Given the description of an element on the screen output the (x, y) to click on. 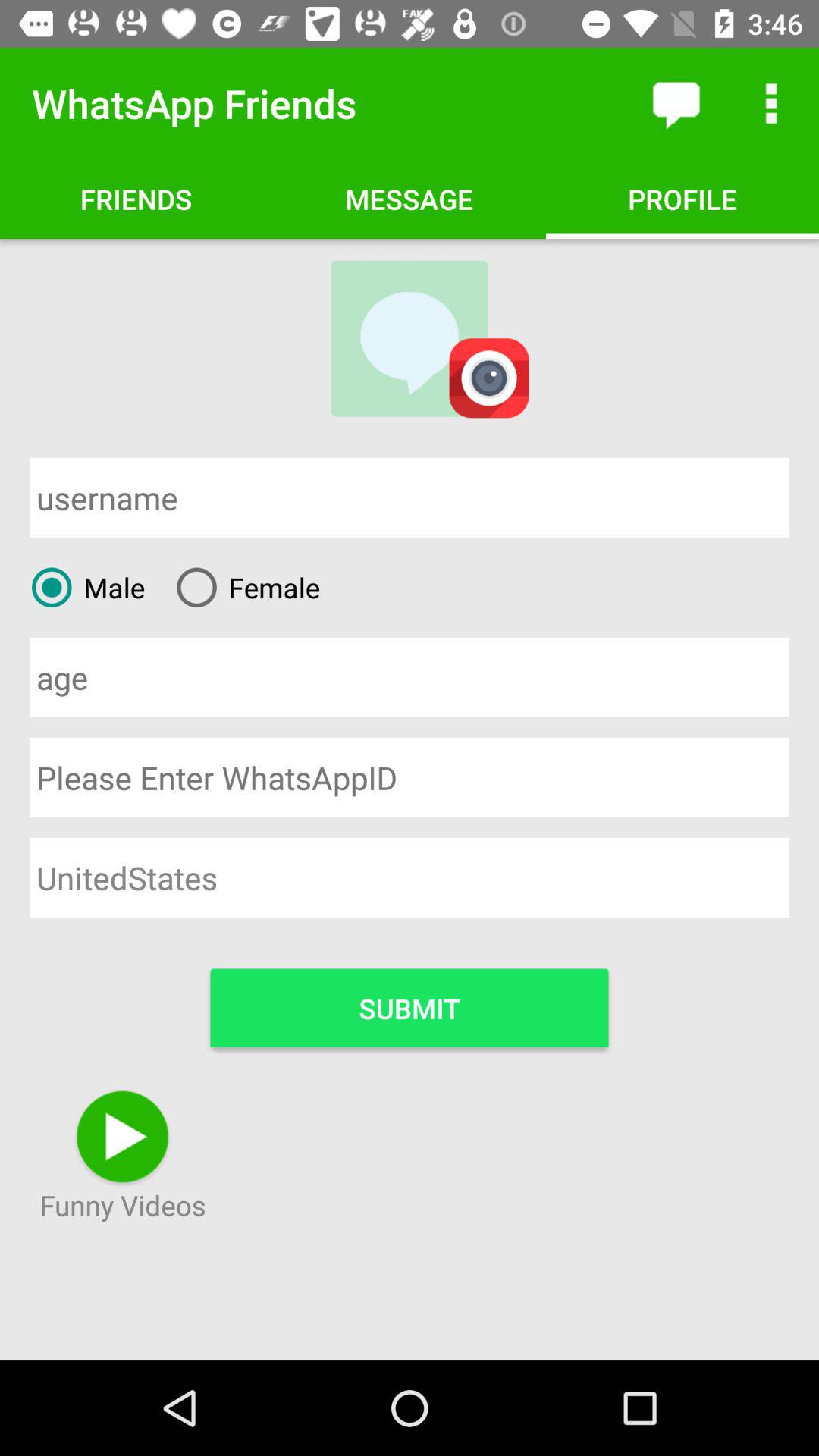
insert option (409, 677)
